Given the description of an element on the screen output the (x, y) to click on. 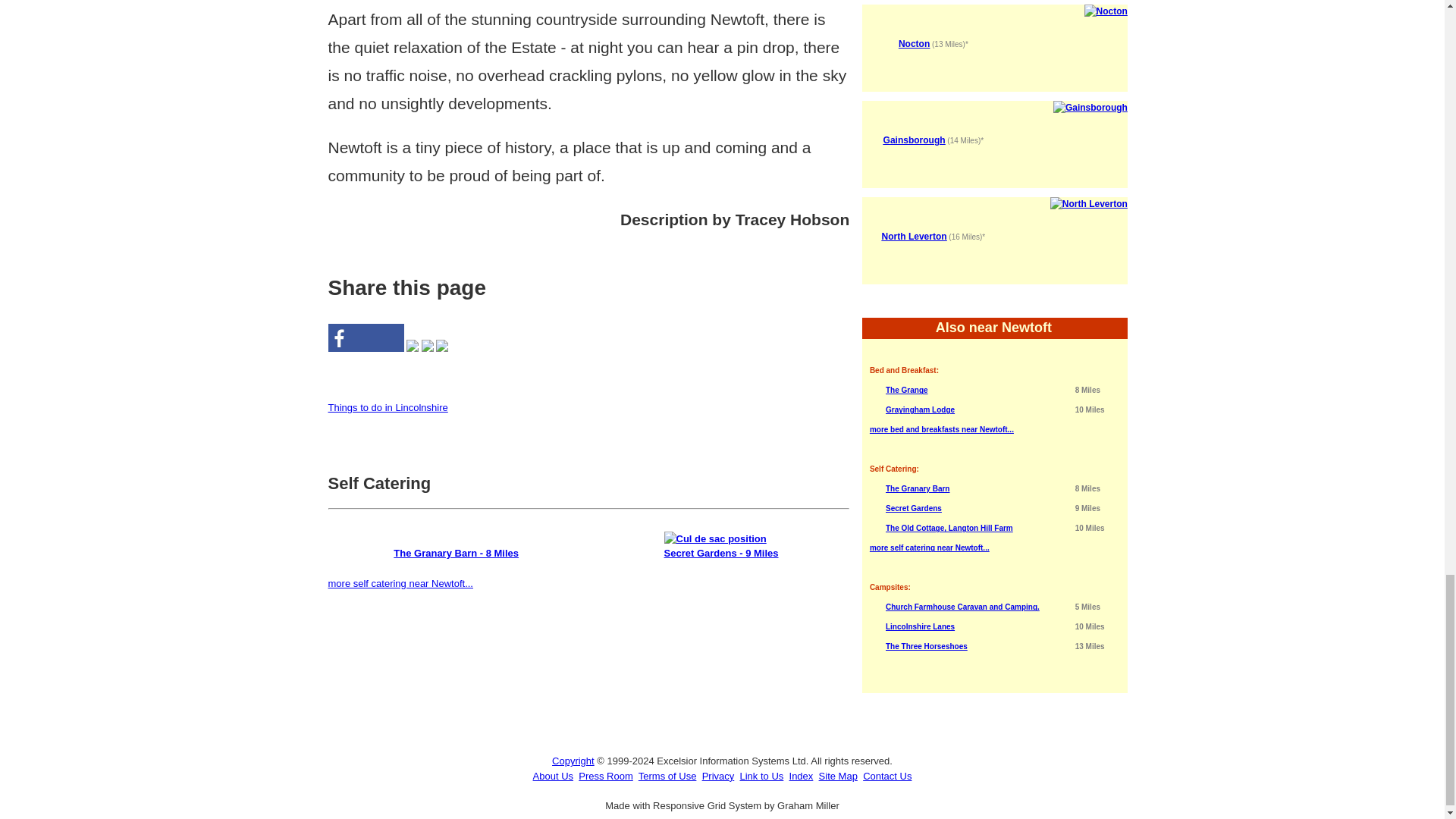
more self catering near Newtoft (929, 547)
more Bed and Breakfasts near Newtoft (941, 429)
